Given the description of an element on the screen output the (x, y) to click on. 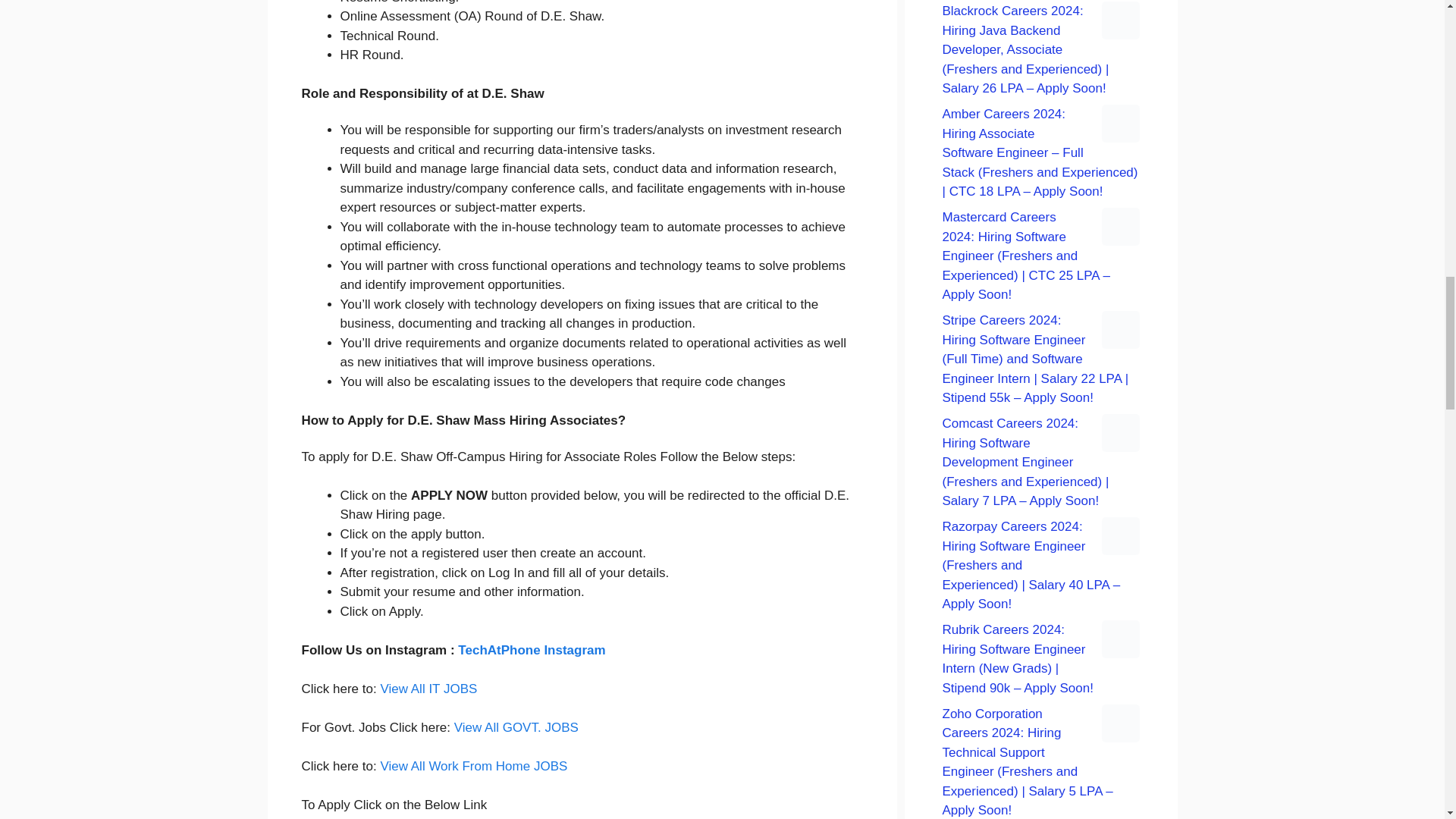
View All GOVT. JOBS (516, 727)
View All IT JOBS (428, 688)
TechAtPhone Instagram (531, 649)
View All Work From Home JOBS (473, 766)
